Given the description of an element on the screen output the (x, y) to click on. 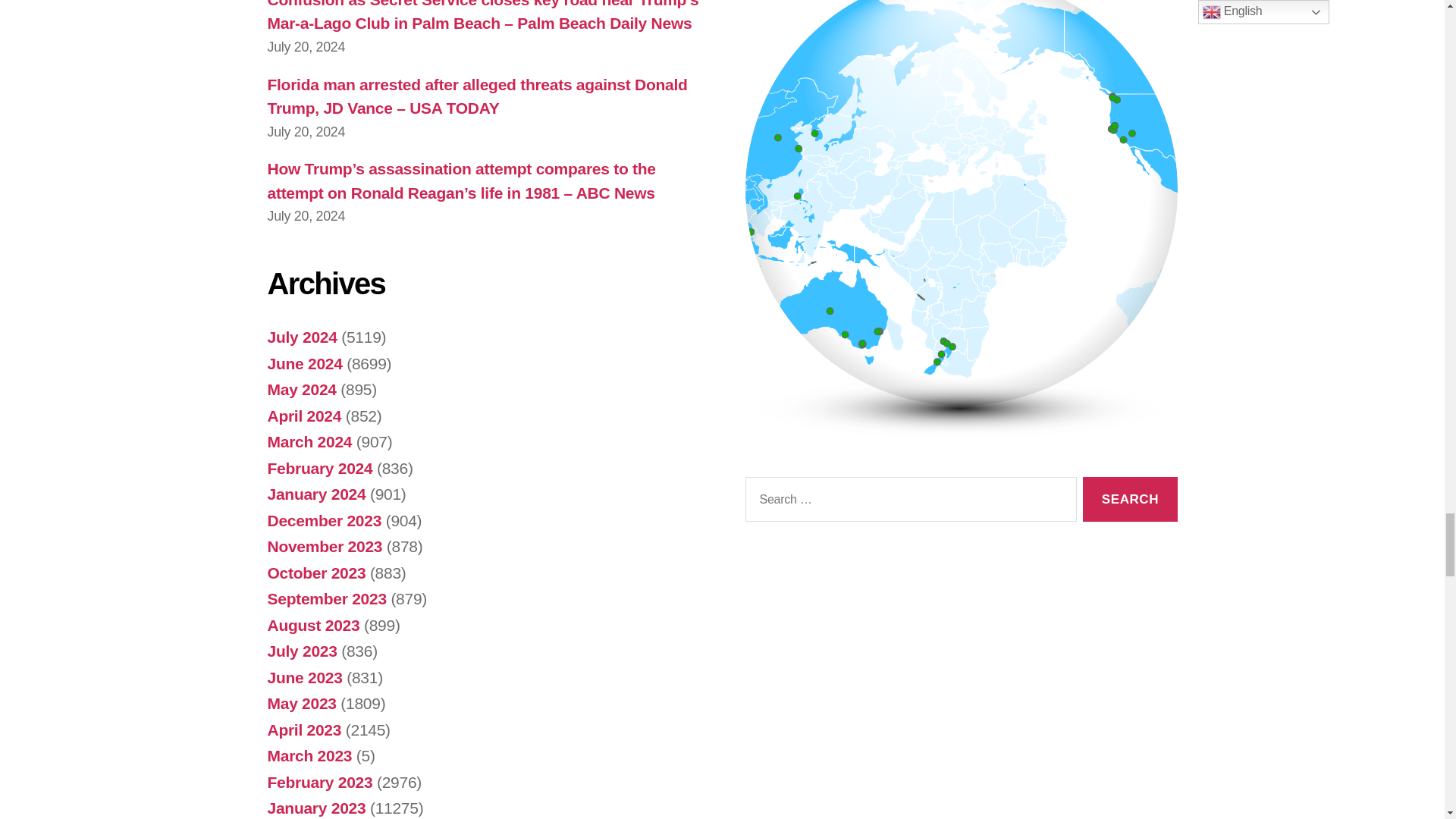
Search (1129, 498)
Search (1129, 498)
